Given the description of an element on the screen output the (x, y) to click on. 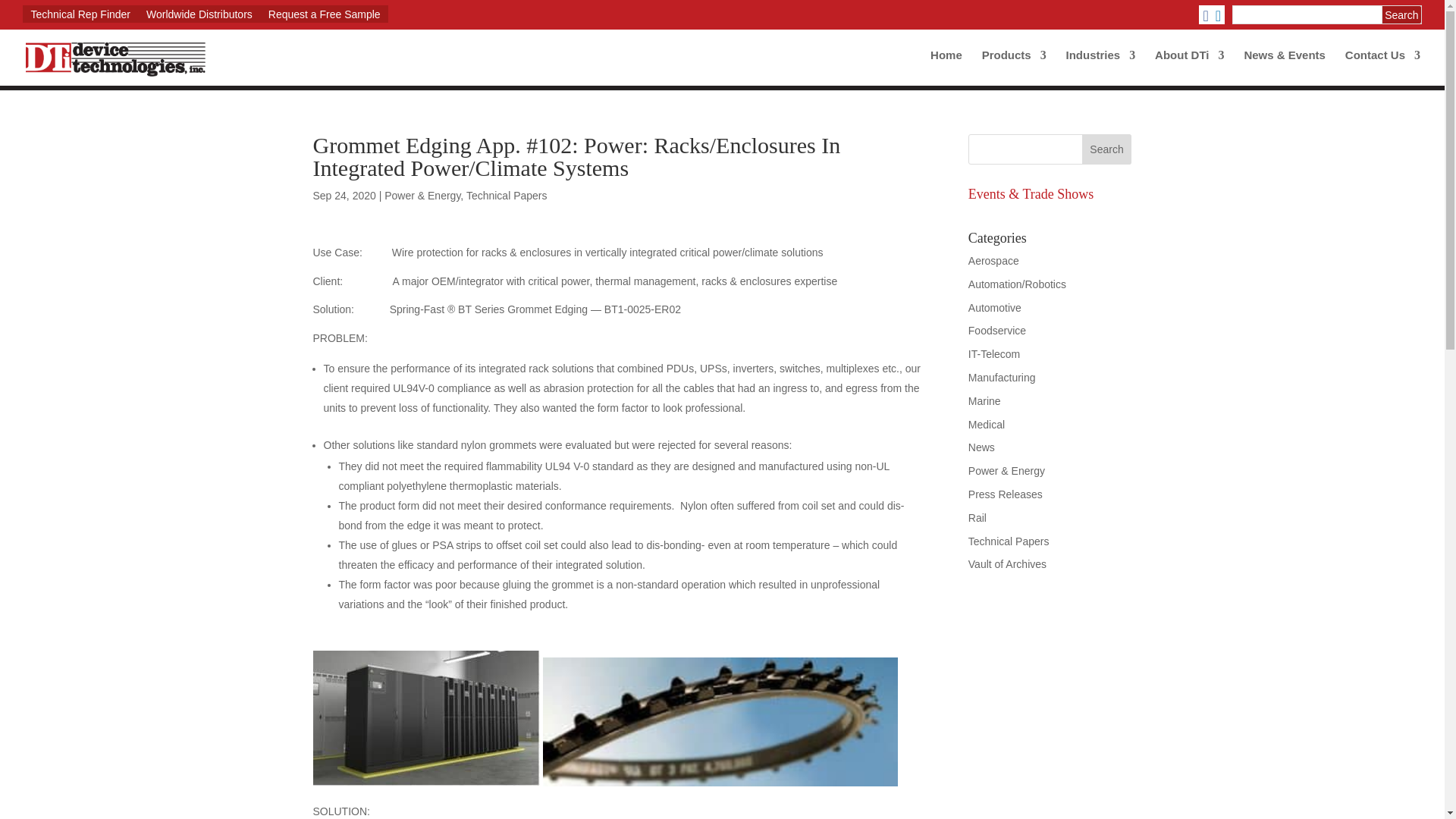
Search (1401, 14)
Search (1401, 14)
Search (1106, 149)
Home (946, 67)
Products (1013, 67)
Technical Rep Finder (80, 13)
Worldwide Distributors (199, 13)
Request a Free Sample (324, 13)
